Given the description of an element on the screen output the (x, y) to click on. 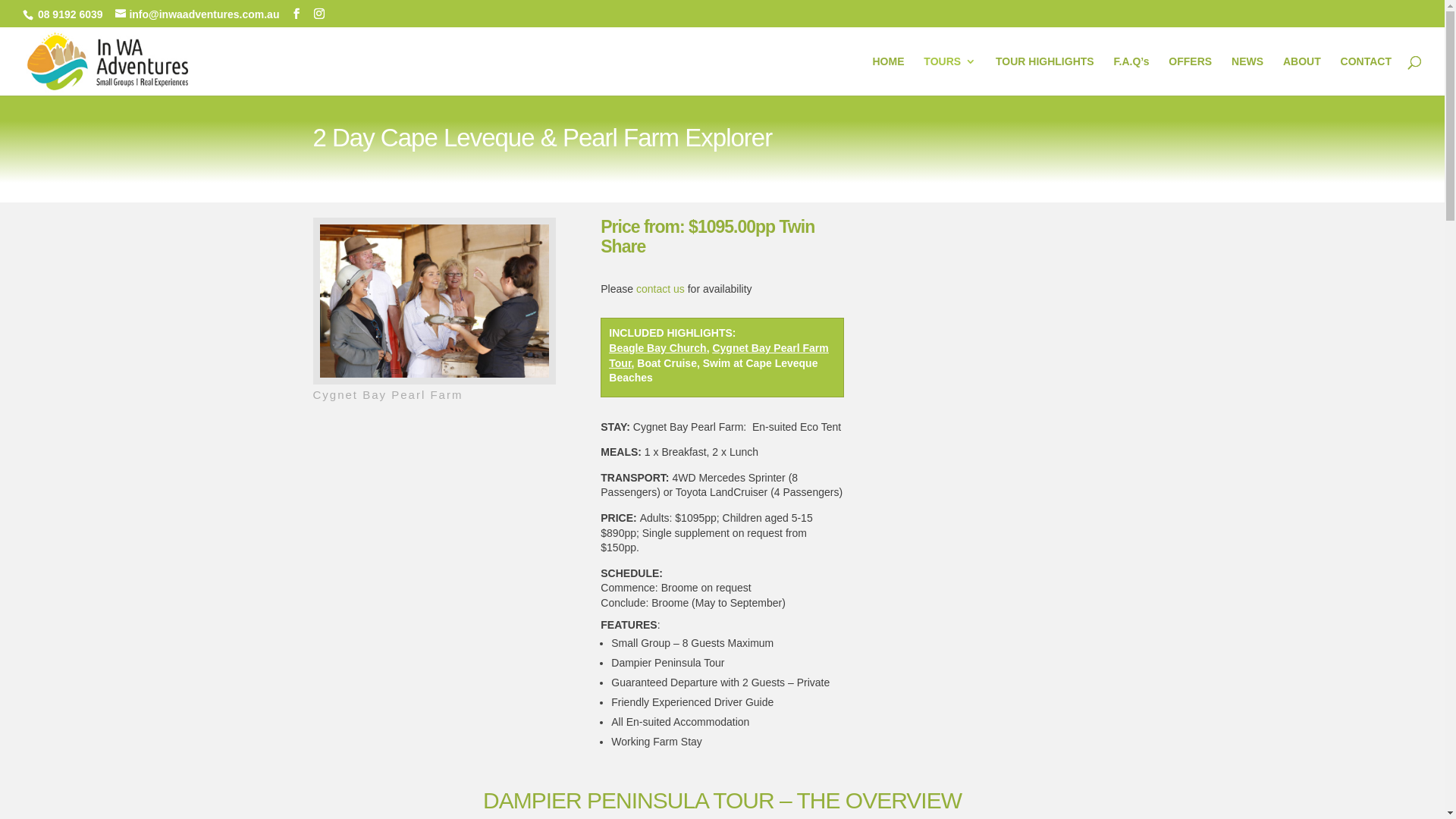
Dampier Peninsula Tour Element type: hover (434, 300)
OFFERS Element type: text (1189, 75)
08 9192 6039 Element type: text (68, 13)
Cygnet Bay Pearl Farm Tour Element type: text (718, 355)
TOURS Element type: text (949, 75)
CONTACT Element type: text (1365, 75)
info@inwaadventures.com.au Element type: text (197, 13)
NEWS Element type: text (1247, 75)
Beagle Bay Church Element type: text (657, 348)
TOUR HIGHLIGHTS Element type: text (1044, 75)
contact us Element type: text (660, 288)
HOME Element type: text (887, 75)
ABOUT Element type: text (1302, 75)
